Given the description of an element on the screen output the (x, y) to click on. 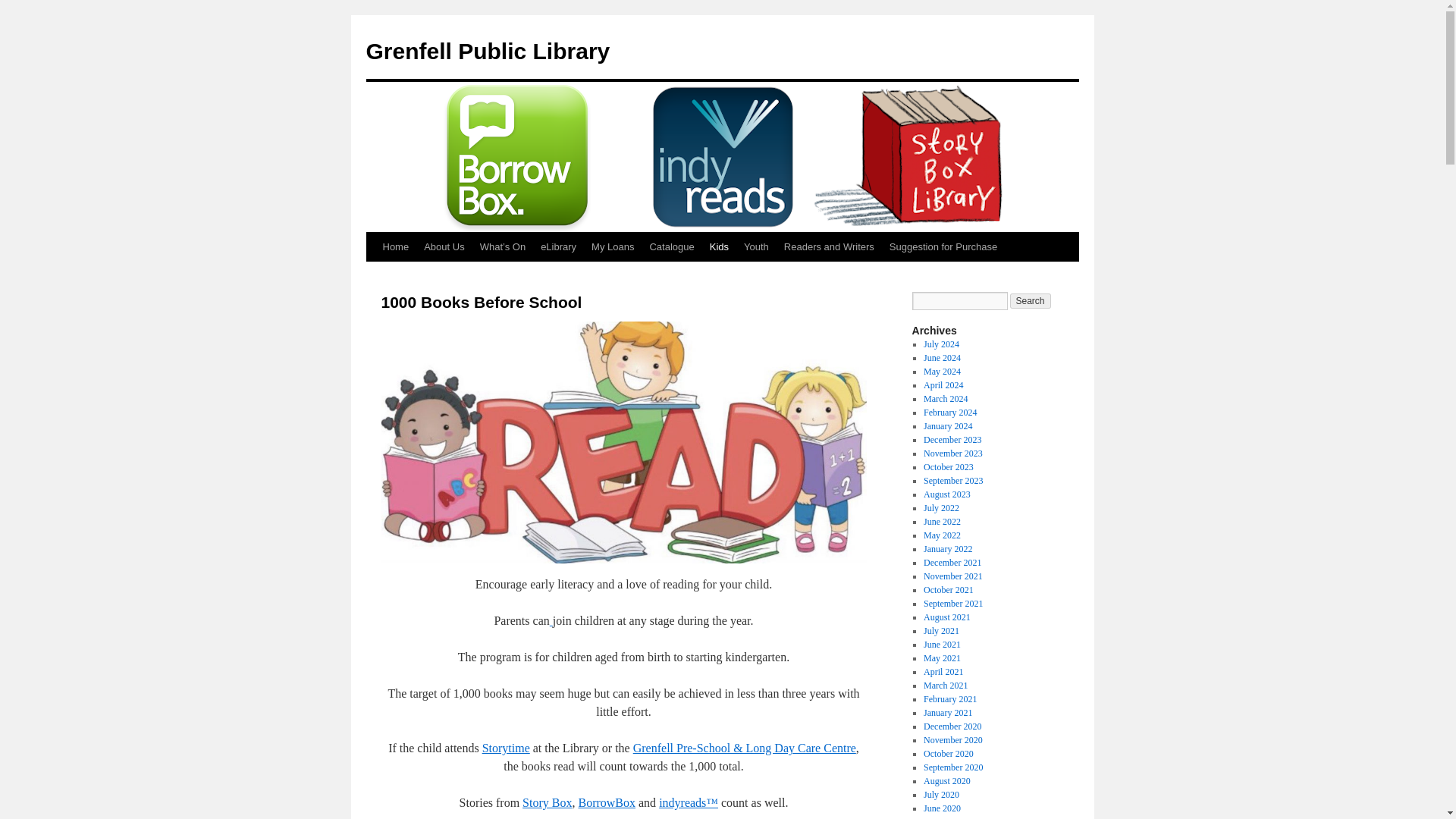
June 2024 (941, 357)
Story Box (547, 802)
Search (1030, 300)
Search (1030, 300)
Storytime (505, 748)
July 2024 (941, 344)
BorrowBox (606, 802)
Home (395, 246)
My Loans (612, 246)
Readers and Writers (829, 246)
eLibrary (557, 246)
Youth (756, 246)
About Us (443, 246)
Catalogue (671, 246)
Kids (718, 246)
